Given the description of an element on the screen output the (x, y) to click on. 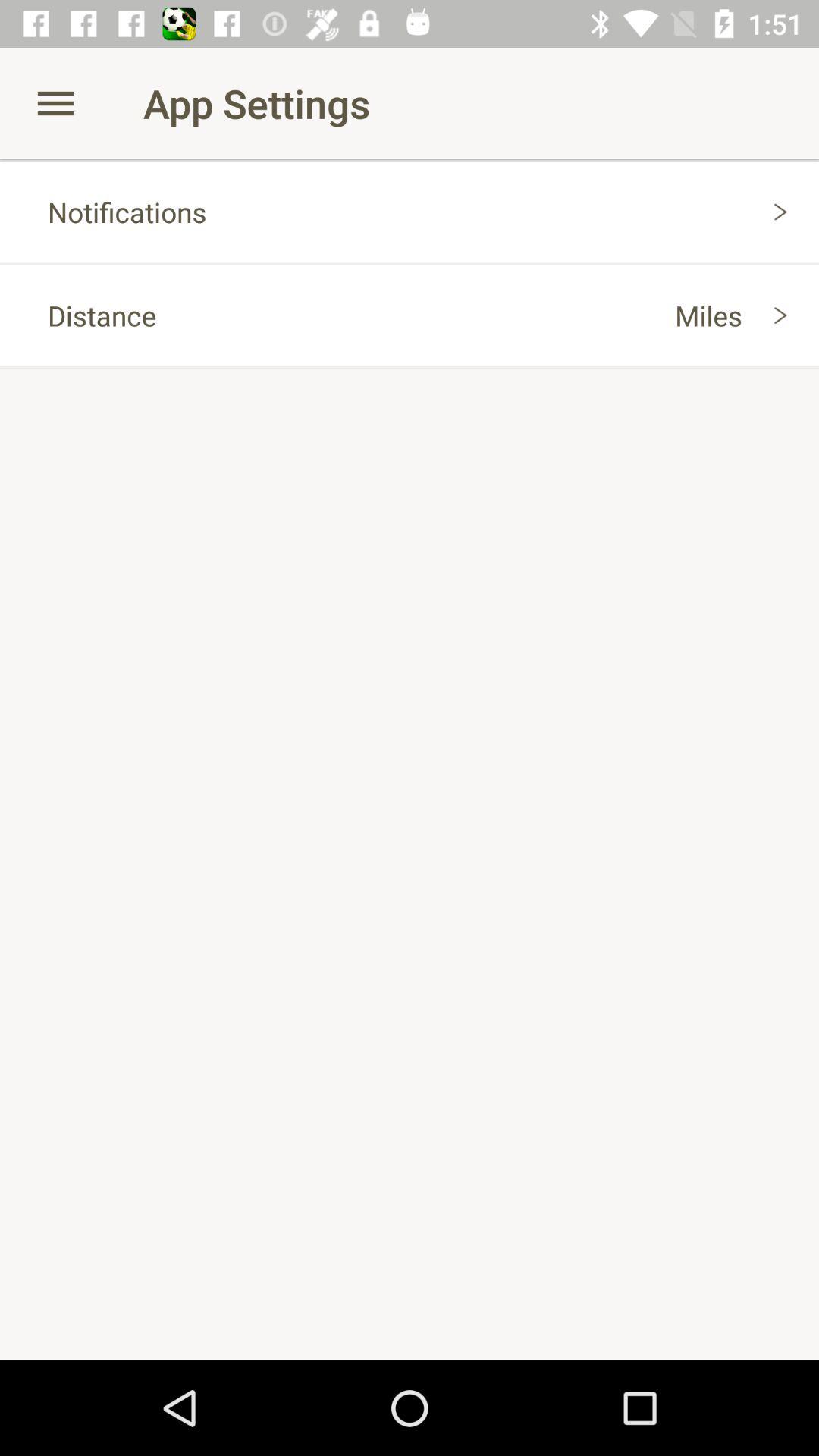
select notifications (409, 211)
